Given the description of an element on the screen output the (x, y) to click on. 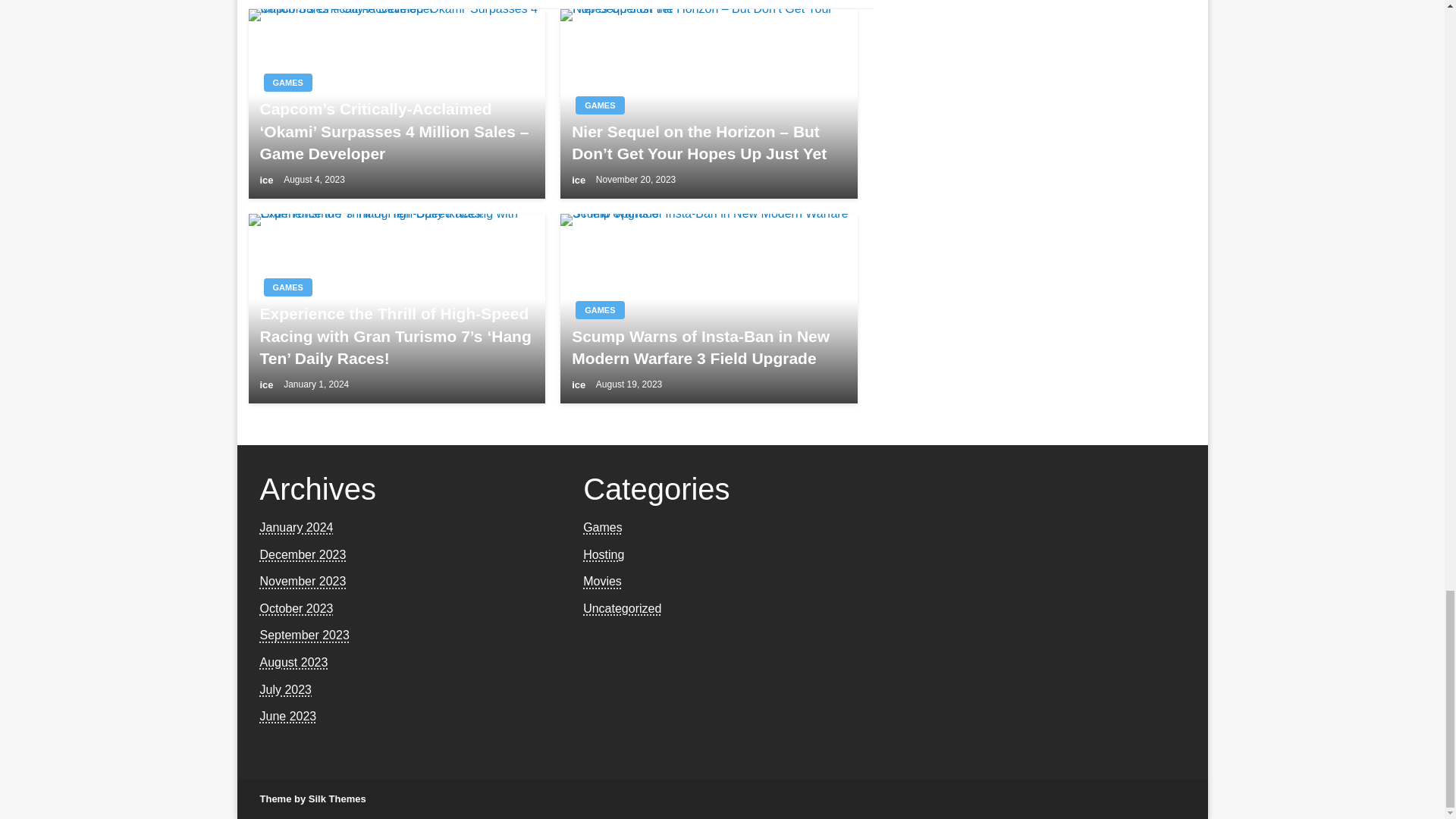
GAMES (288, 82)
ice (267, 179)
ice (580, 384)
GAMES (599, 105)
GAMES (599, 310)
GAMES (288, 287)
ice (267, 384)
ice (580, 179)
